Given the description of an element on the screen output the (x, y) to click on. 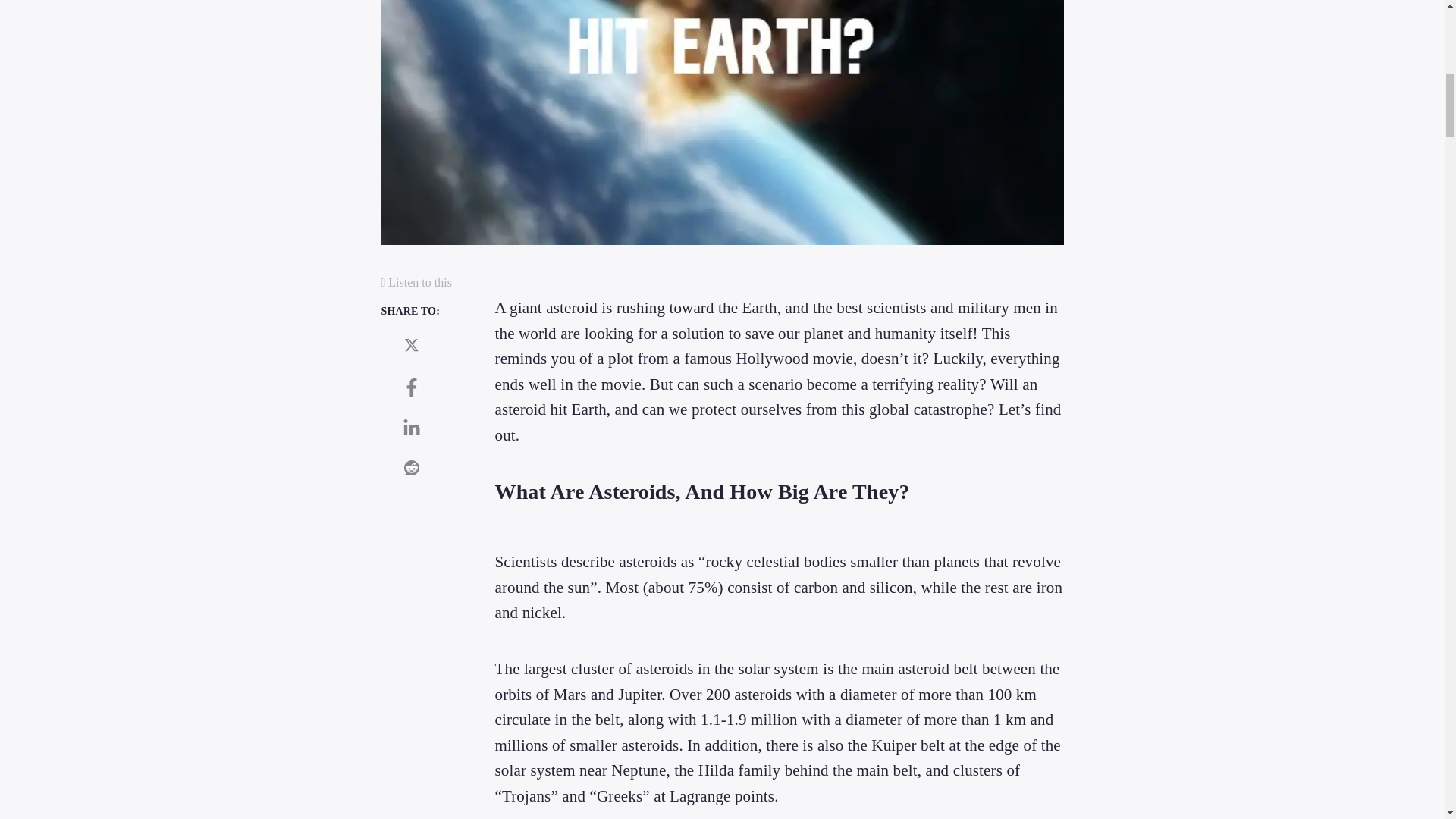
Share on Facebook (411, 387)
Tweet this! (411, 345)
